Given the description of an element on the screen output the (x, y) to click on. 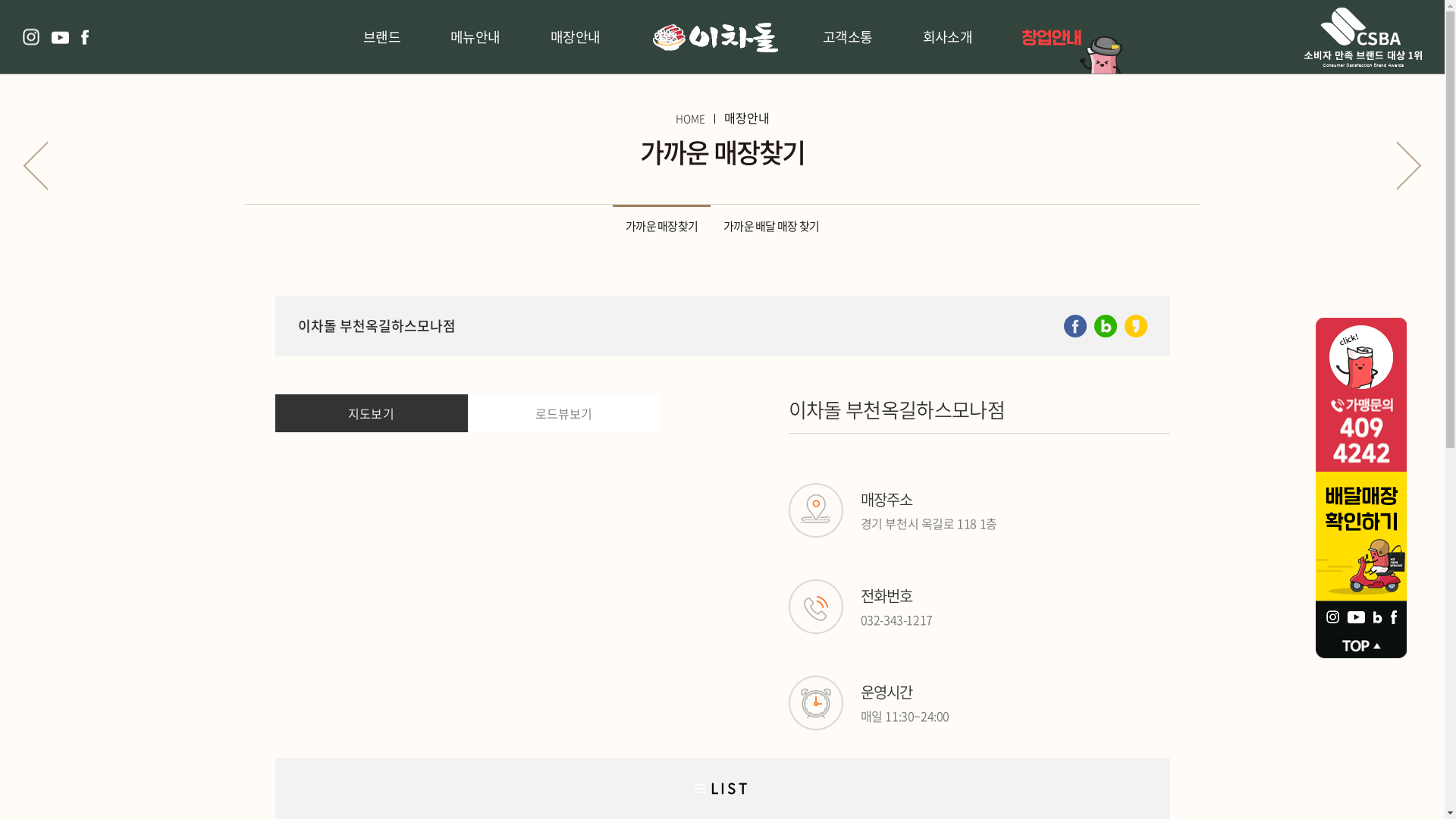
HOME Element type: text (689, 117)
